Given the description of an element on the screen output the (x, y) to click on. 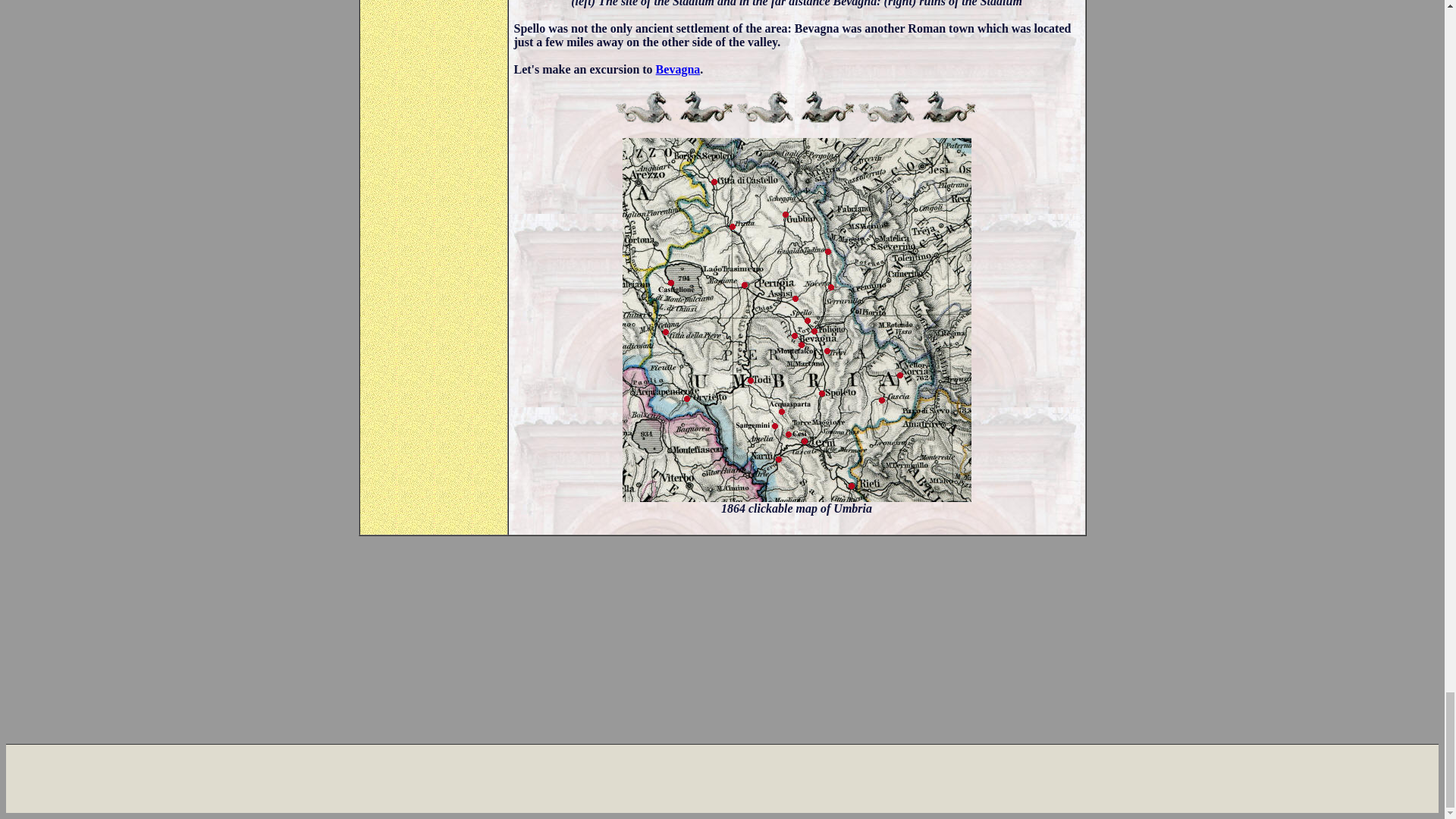
Bevagna (678, 69)
